Given the description of an element on the screen output the (x, y) to click on. 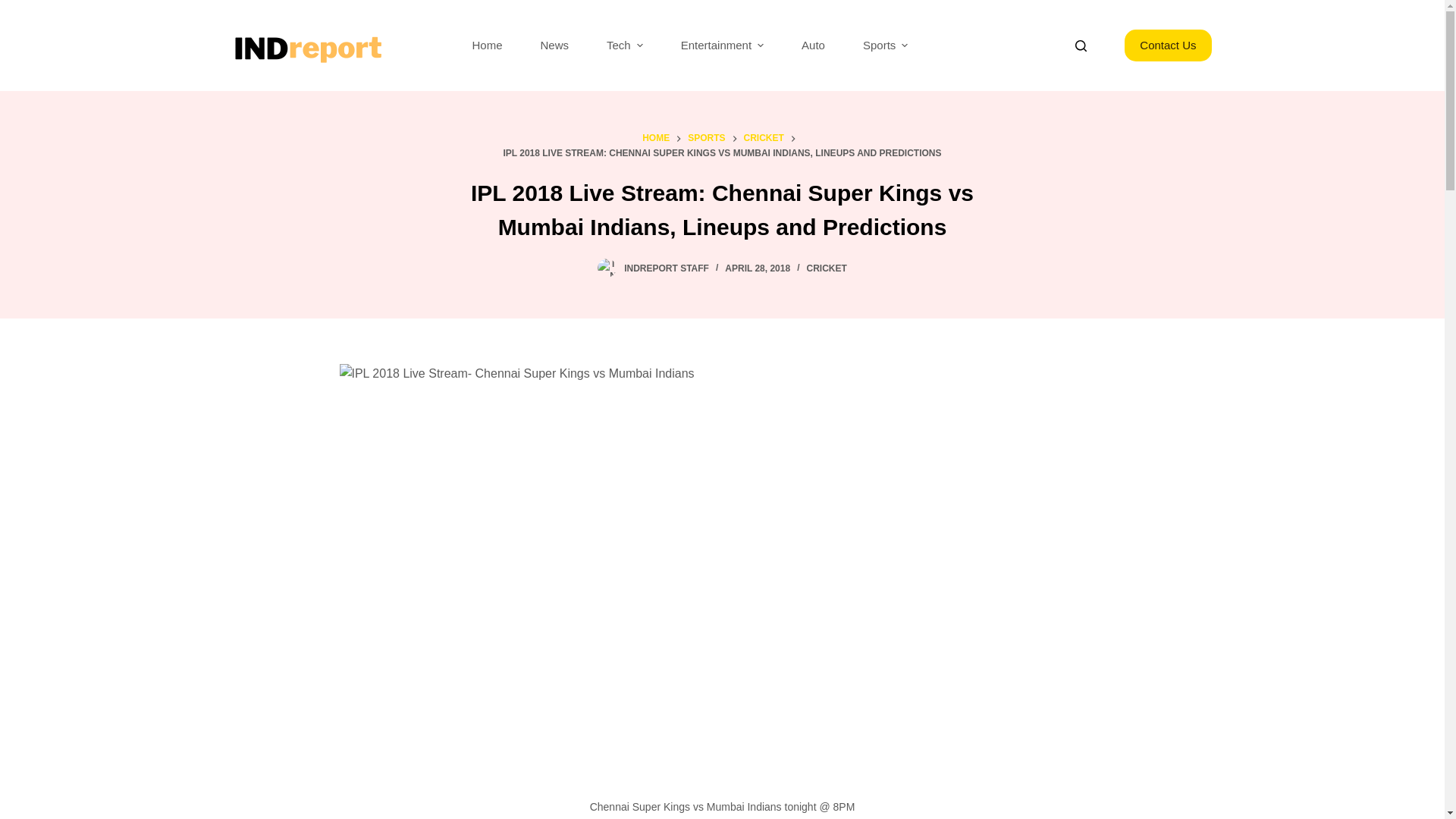
Entertainment (722, 45)
Home (486, 45)
Posts by indreport staff (666, 267)
Skip to content (15, 7)
Sports (885, 45)
News (554, 45)
Contact Us (1167, 45)
Auto (813, 45)
Tech (625, 45)
